Given the description of an element on the screen output the (x, y) to click on. 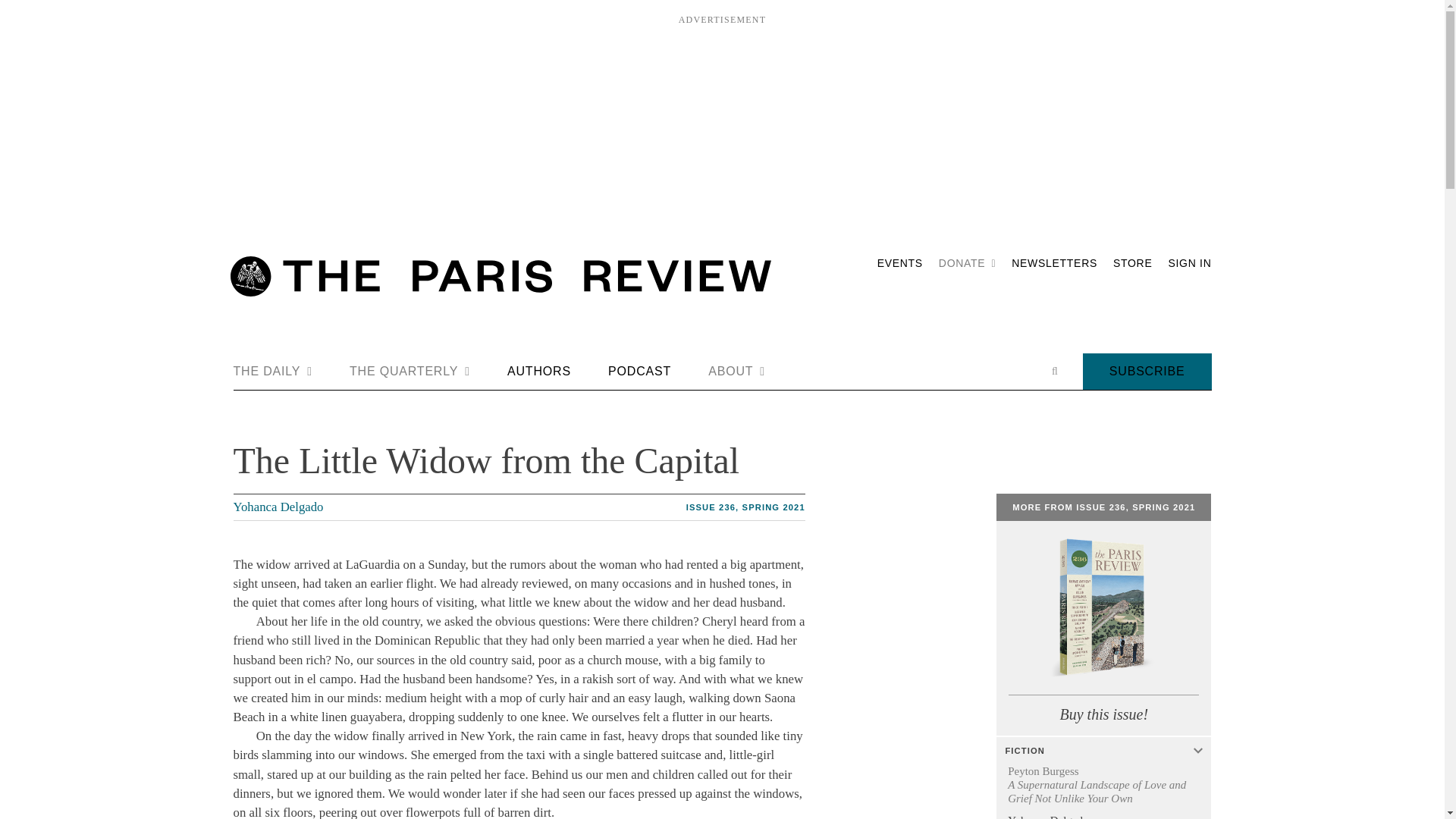
Open search (1054, 371)
THE DAILY (272, 371)
THE QUARTERLY (409, 371)
